Given the description of an element on the screen output the (x, y) to click on. 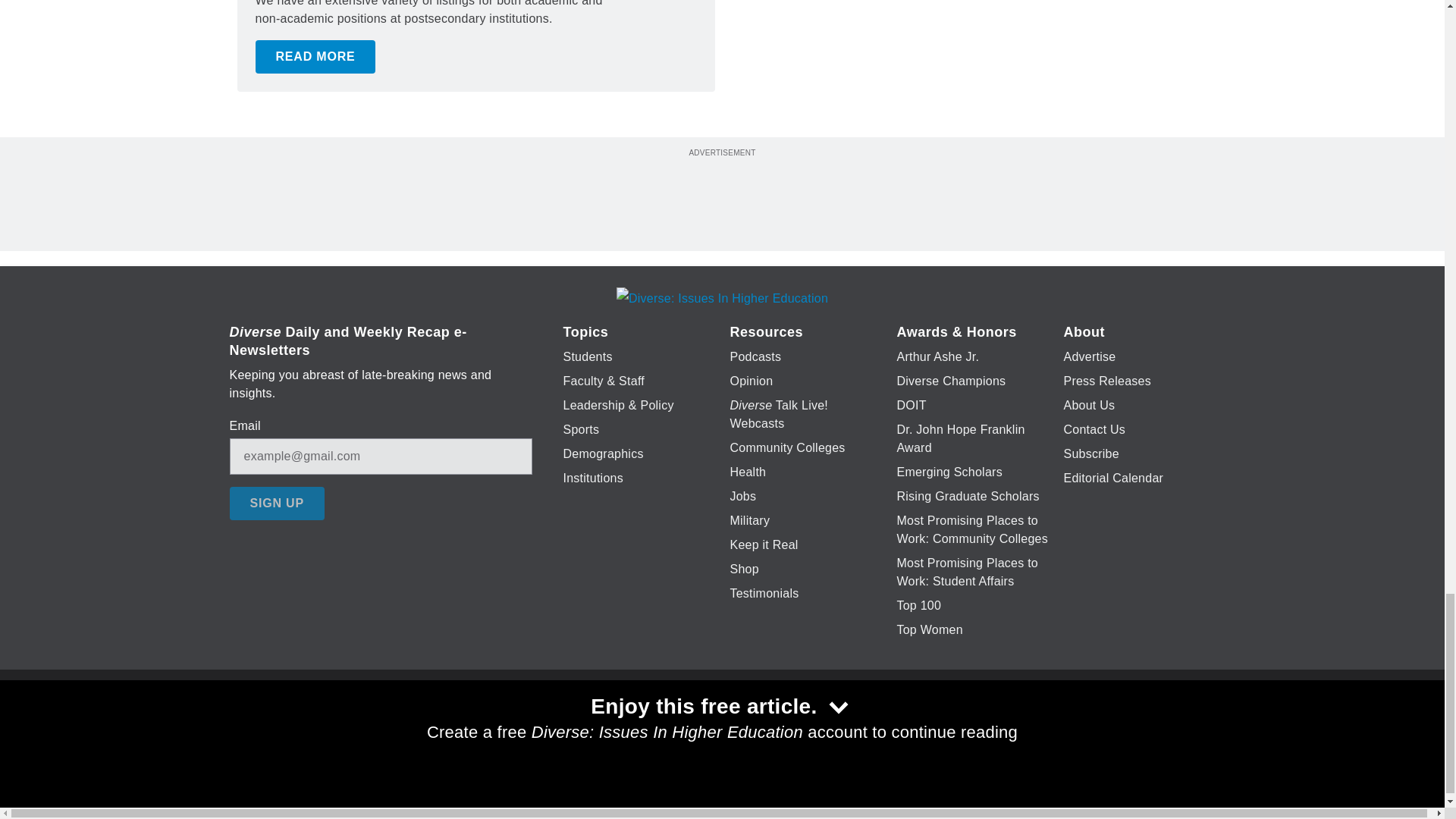
Instagram icon (796, 727)
LinkedIn icon (718, 727)
YouTube icon (757, 727)
Twitter X icon (674, 727)
Facebook icon (635, 727)
